Given the description of an element on the screen output the (x, y) to click on. 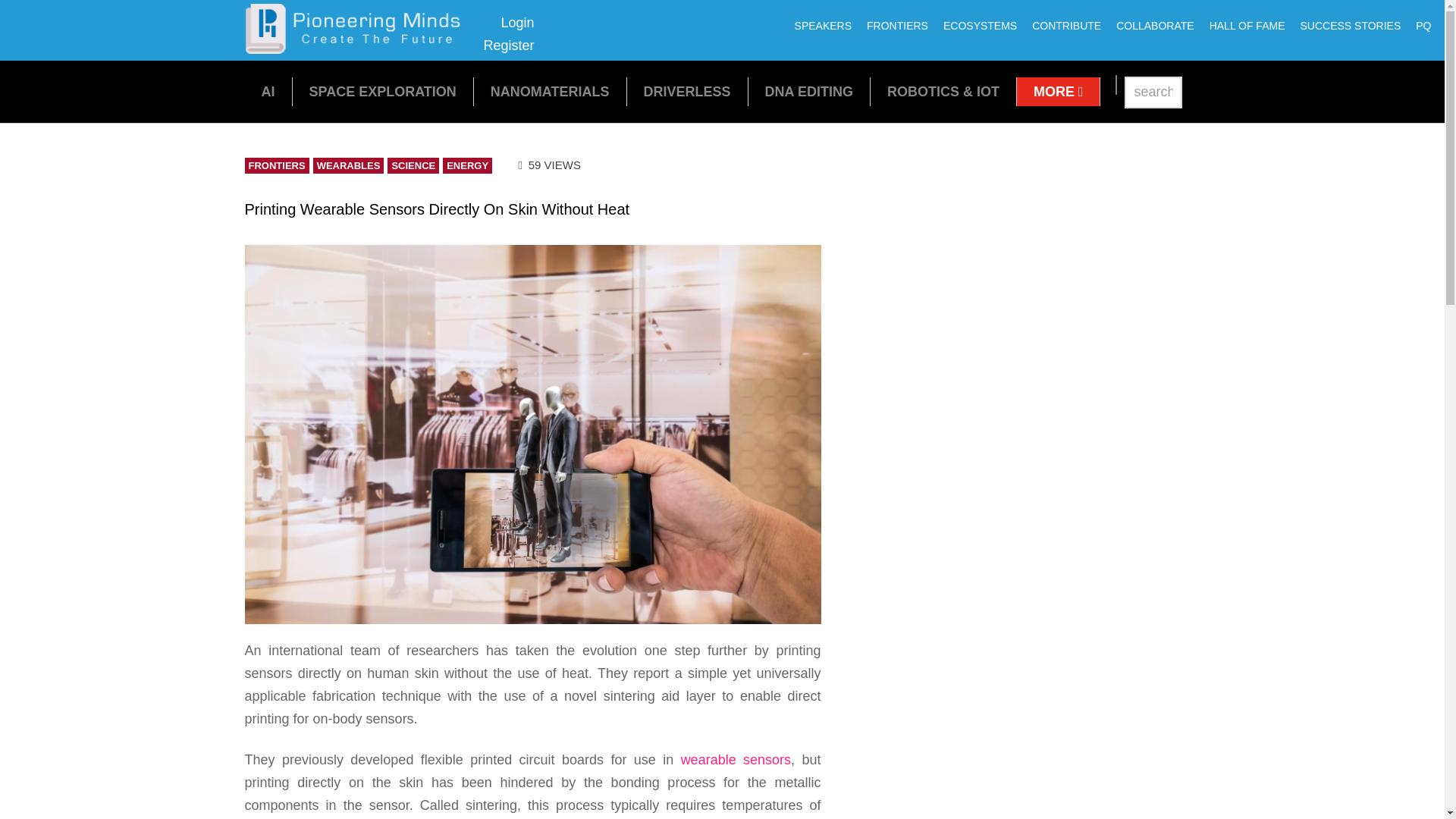
CONTRIBUTE (1066, 26)
DRIVERLESS (686, 91)
PQ (508, 34)
ECOSYSTEMS (1422, 26)
Pioneering Minds (980, 26)
NANOMATERIALS (357, 48)
DNA EDITING (550, 91)
MORE (809, 91)
SUCCESS STORIES (1058, 91)
